Given the description of an element on the screen output the (x, y) to click on. 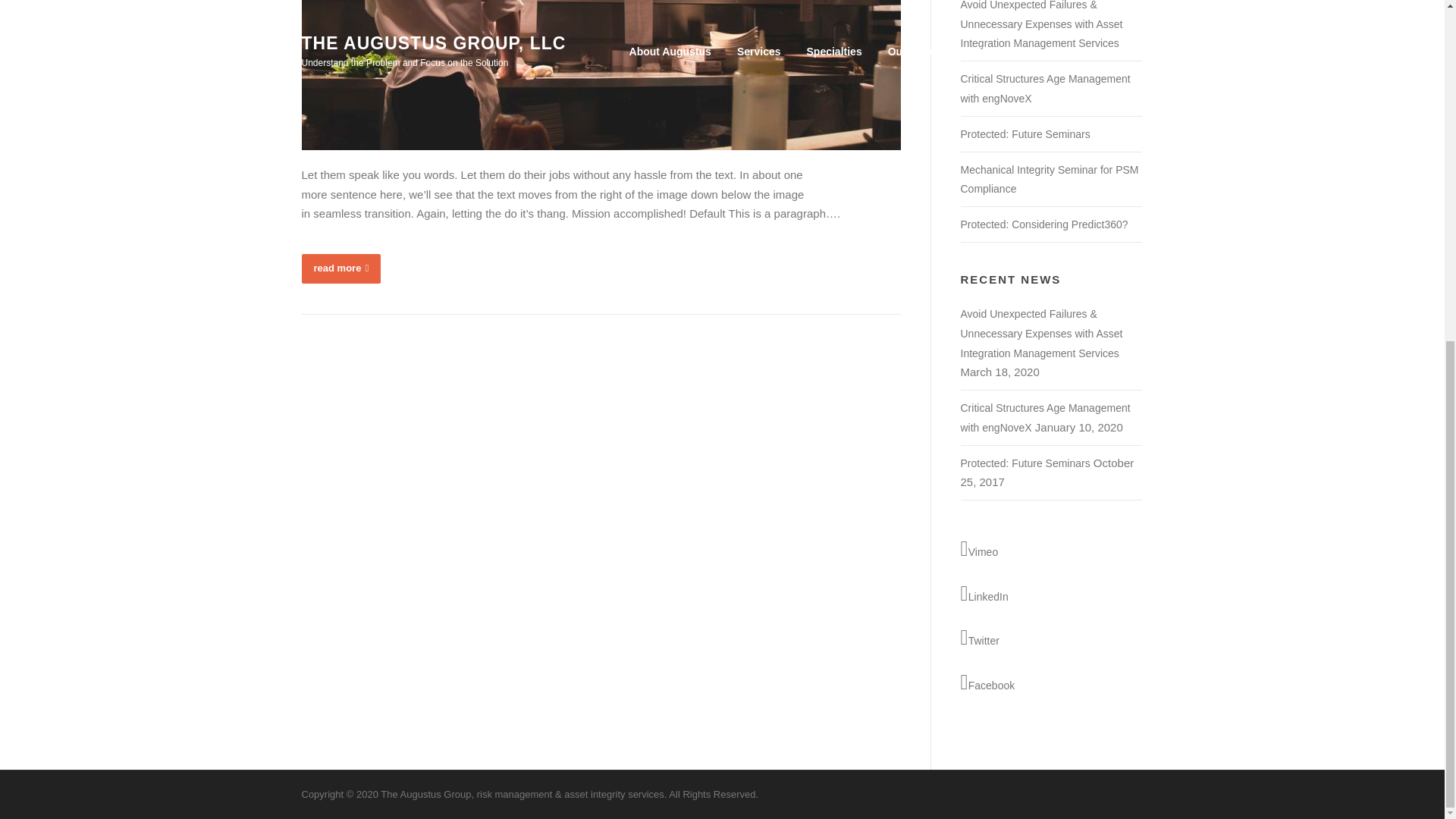
Protected: Future Seminars (1024, 133)
Visit The Augustus Group, LLC on LinkedIn (1050, 594)
Protected: Future Seminars (1024, 463)
Markup: Text Alignment (341, 268)
Visit The Augustus Group, LLC on Facebook (1050, 683)
Visit The Augustus Group, LLC on Vimeo (1050, 549)
Visit The Augustus Group, LLC on Twitter (1050, 638)
Critical Structures Age Management with engNoveX (1044, 88)
Critical Structures Age Management with engNoveX (1044, 418)
read more (341, 268)
